Given the description of an element on the screen output the (x, y) to click on. 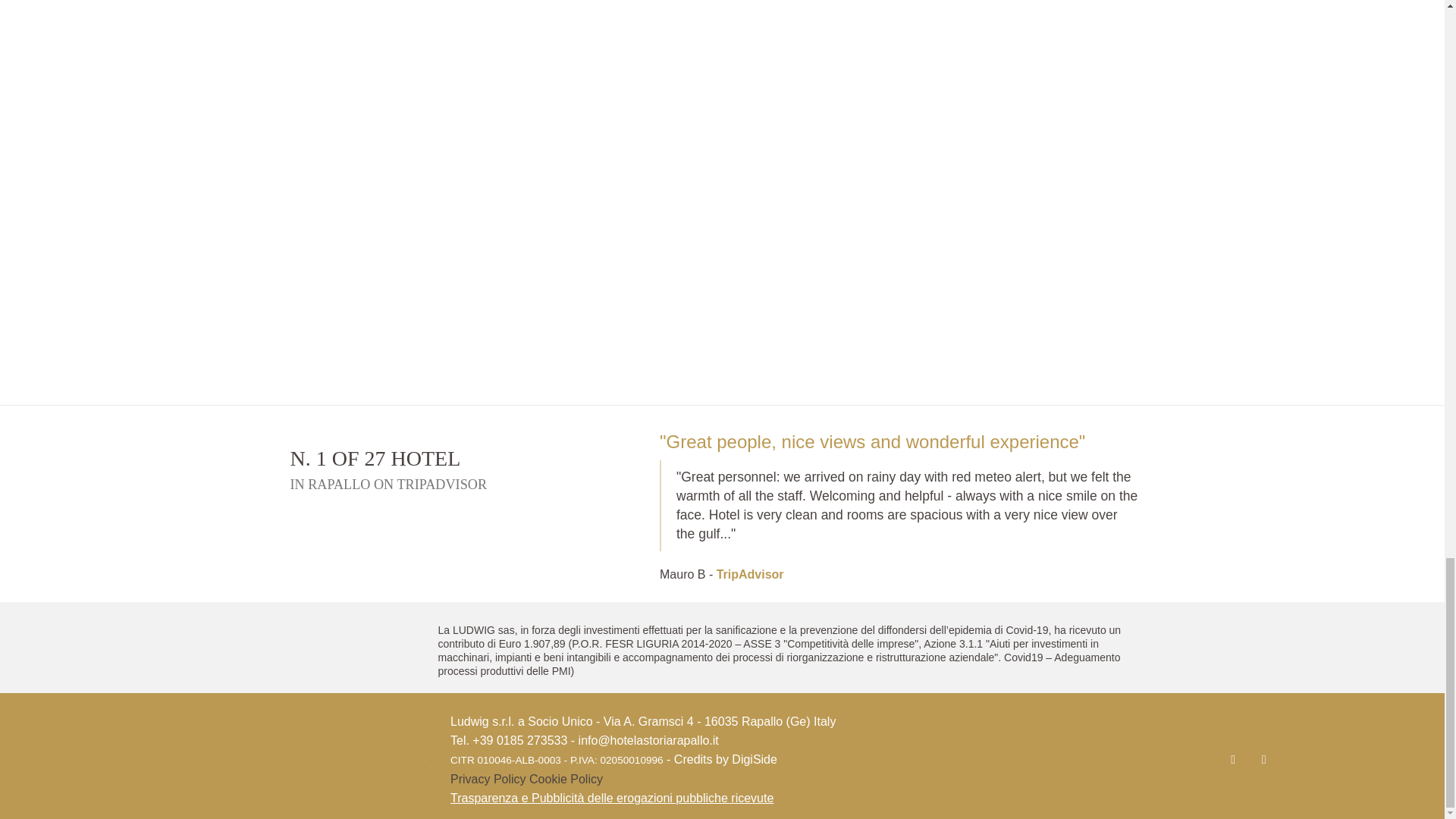
Cookie Policy  (565, 779)
Cookie Policy (565, 779)
DigiSide (754, 758)
Privacy Policy  (487, 779)
Privacy Policy (487, 779)
